Given the description of an element on the screen output the (x, y) to click on. 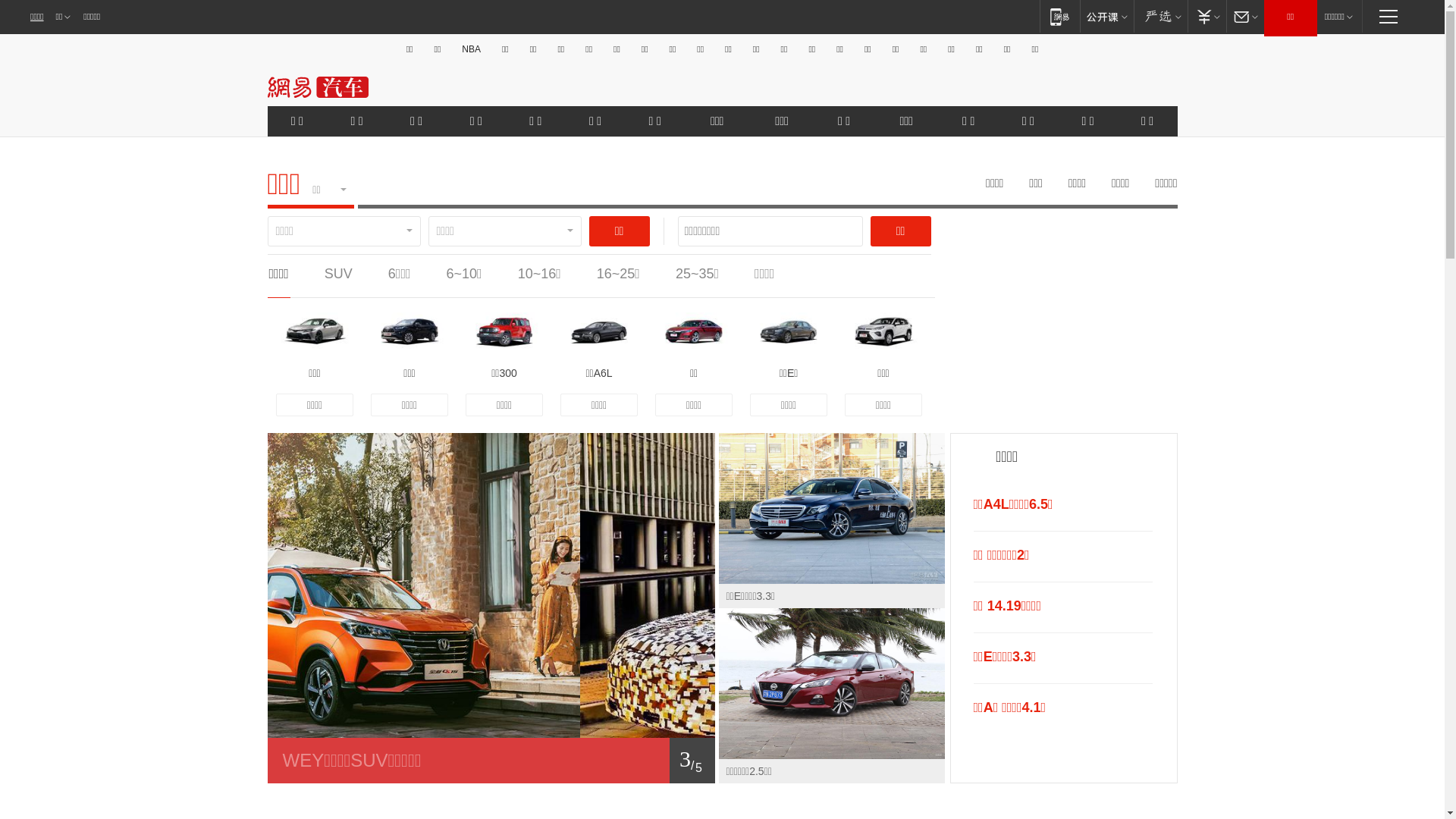
SUV Element type: text (338, 273)
1/ 5 Element type: text (490, 760)
NBA Element type: text (471, 48)
